Given the description of an element on the screen output the (x, y) to click on. 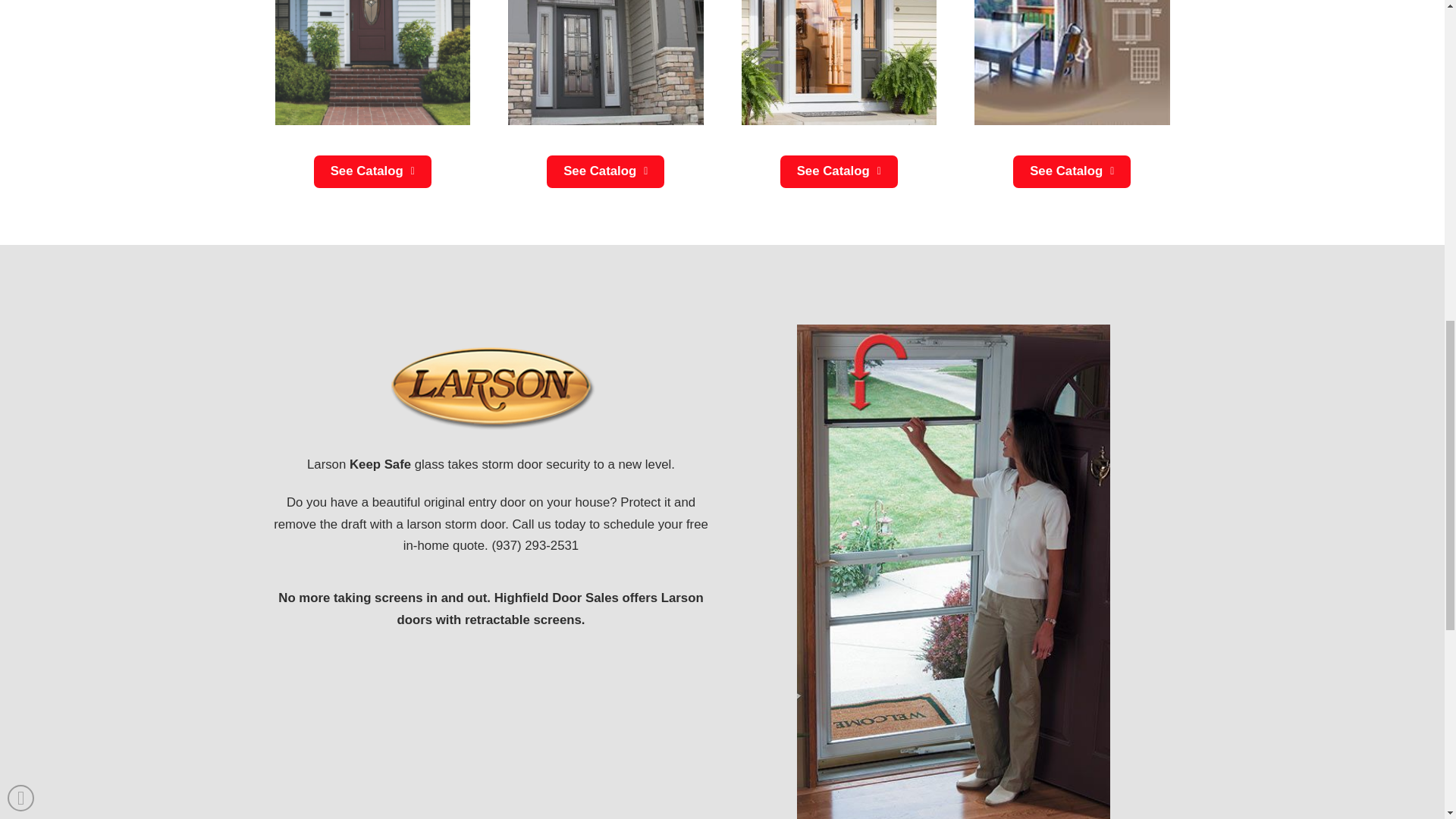
See Catalog (372, 171)
See Catalog (605, 171)
See Catalog (839, 171)
See Catalog (1072, 171)
